Given the description of an element on the screen output the (x, y) to click on. 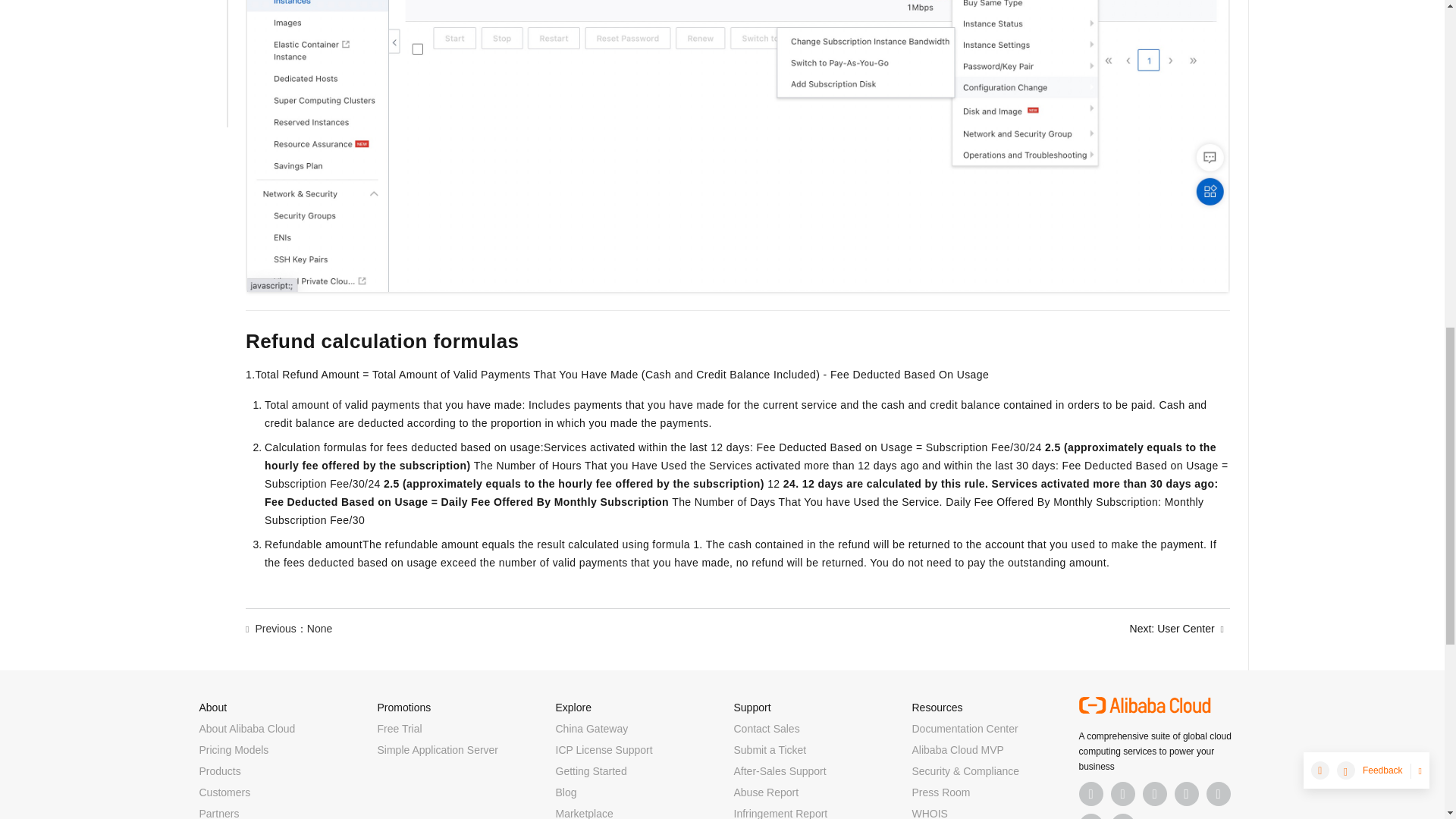
Call Us Now (1121, 816)
Facebook (1090, 793)
TikTok (1217, 793)
Linkedin (1121, 793)
Twitter (1153, 793)
YouTube (1185, 793)
